Given the description of an element on the screen output the (x, y) to click on. 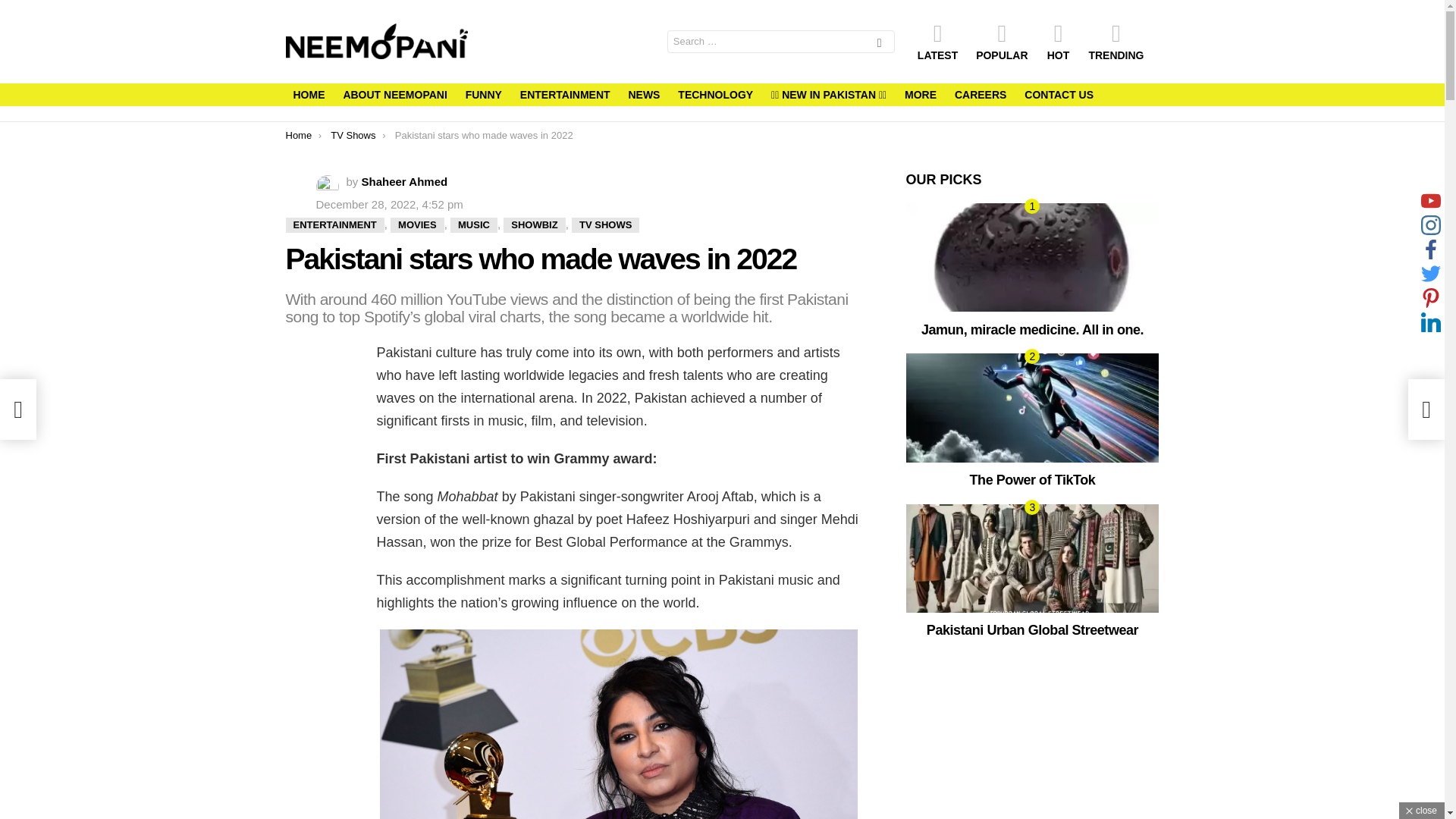
HOME (308, 94)
MOVIES (417, 224)
ABOUT NEEMOPANI (394, 94)
NEWS (643, 94)
TV Shows (352, 134)
TV SHOWS (605, 224)
SEARCH (879, 44)
MUSIC (473, 224)
FUNNY (483, 94)
ENTERTAINMENT (334, 224)
Posts by Shaheer Ahmed (404, 181)
MORE (919, 94)
TECHNOLOGY (714, 94)
LATEST (937, 41)
CAREERS (980, 94)
